Given the description of an element on the screen output the (x, y) to click on. 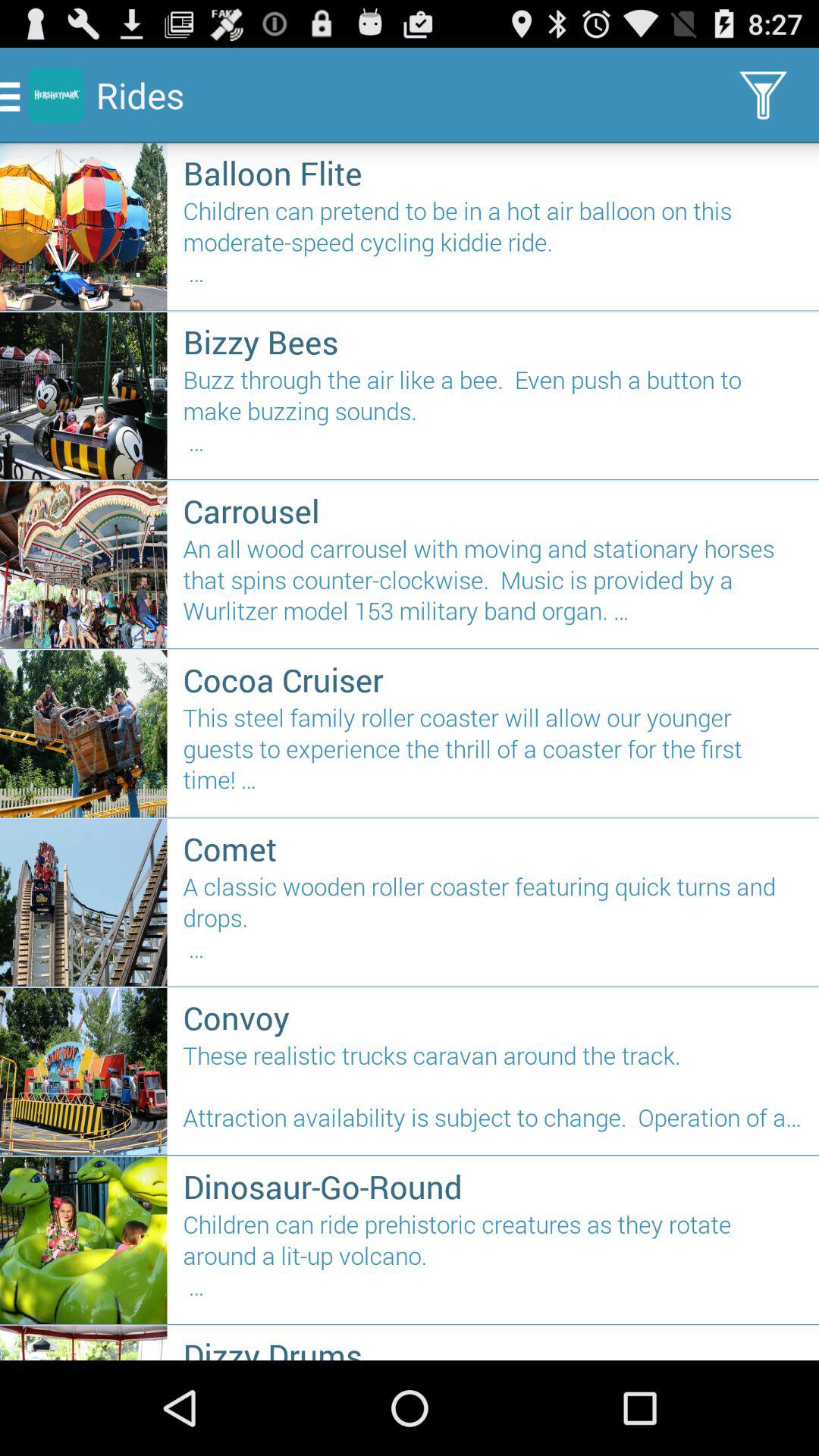
launch icon below children can pretend (493, 341)
